Given the description of an element on the screen output the (x, y) to click on. 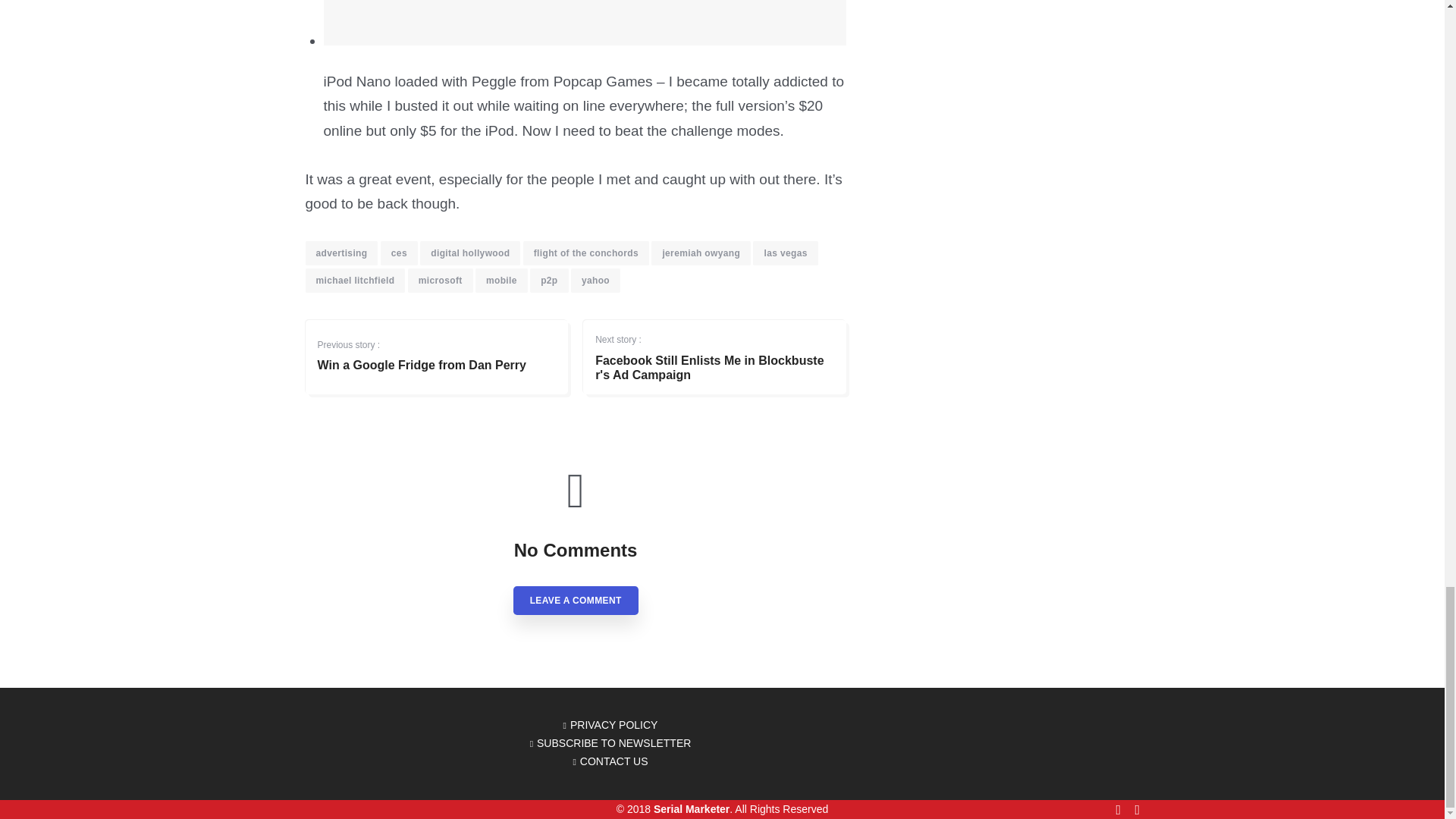
ces (398, 252)
digital hollywood (469, 252)
Peggle from Popcap Games (561, 81)
advertising (340, 252)
flight of the conchords (585, 252)
